Given the description of an element on the screen output the (x, y) to click on. 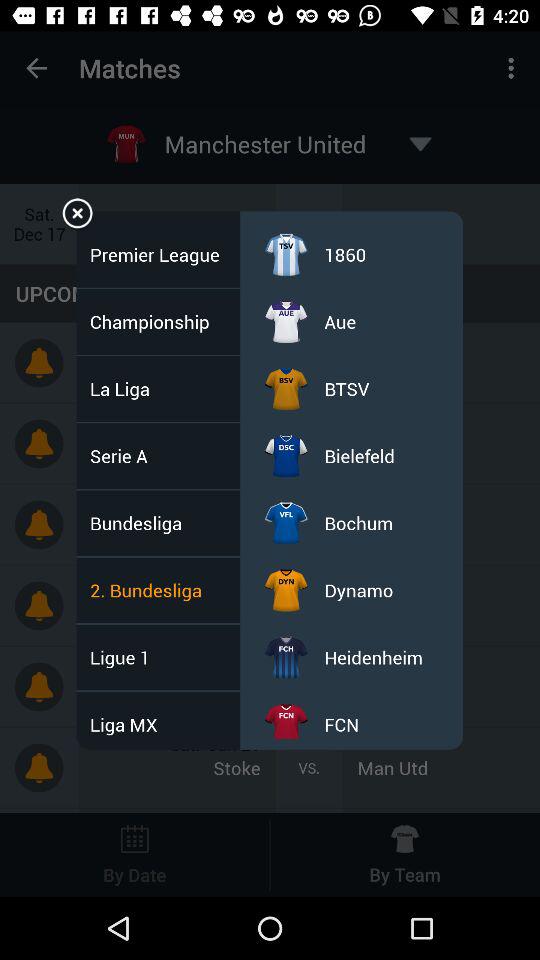
open the item below the btsv item (359, 455)
